Given the description of an element on the screen output the (x, y) to click on. 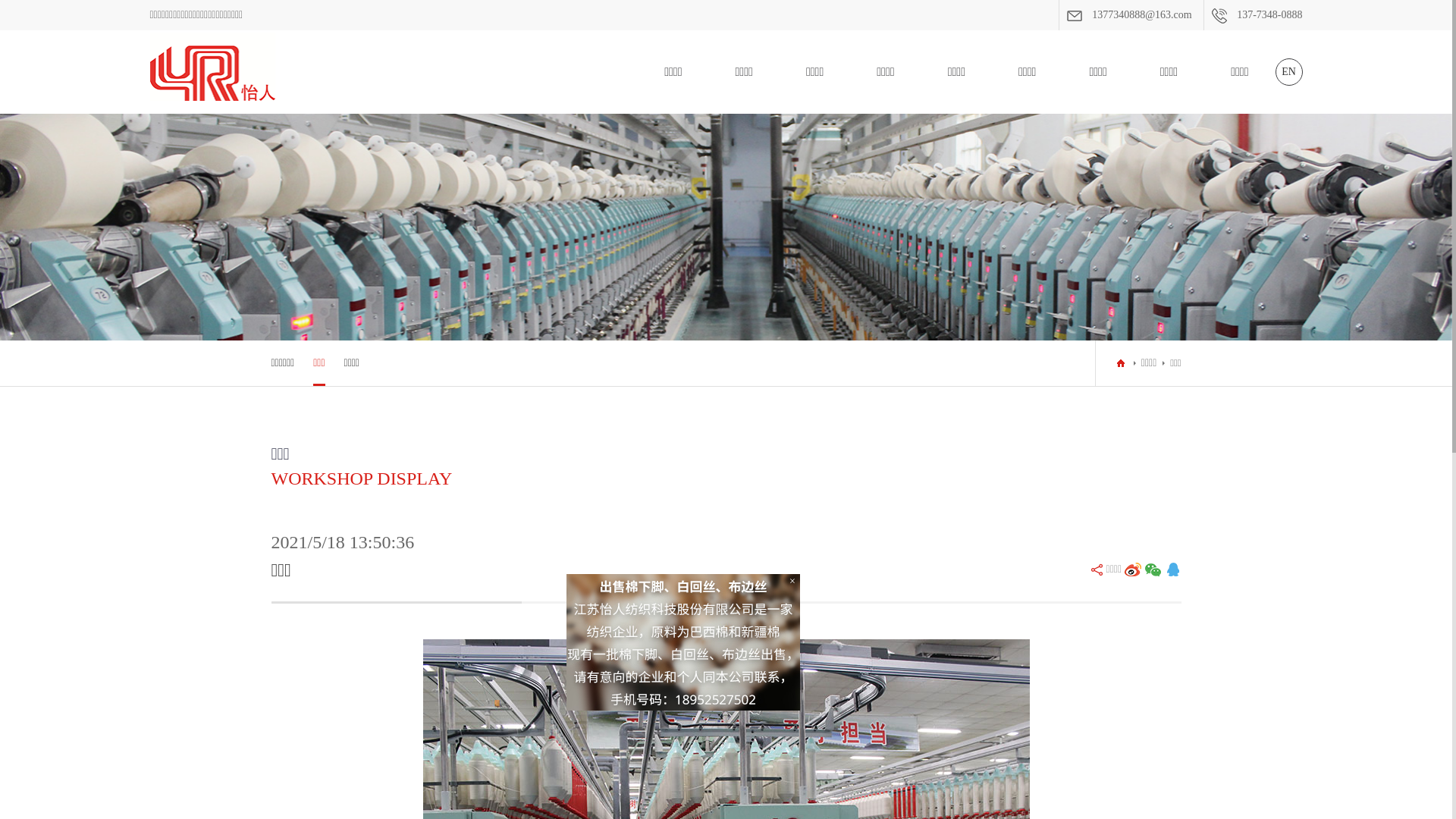
EN Element type: text (1288, 71)
